Given the description of an element on the screen output the (x, y) to click on. 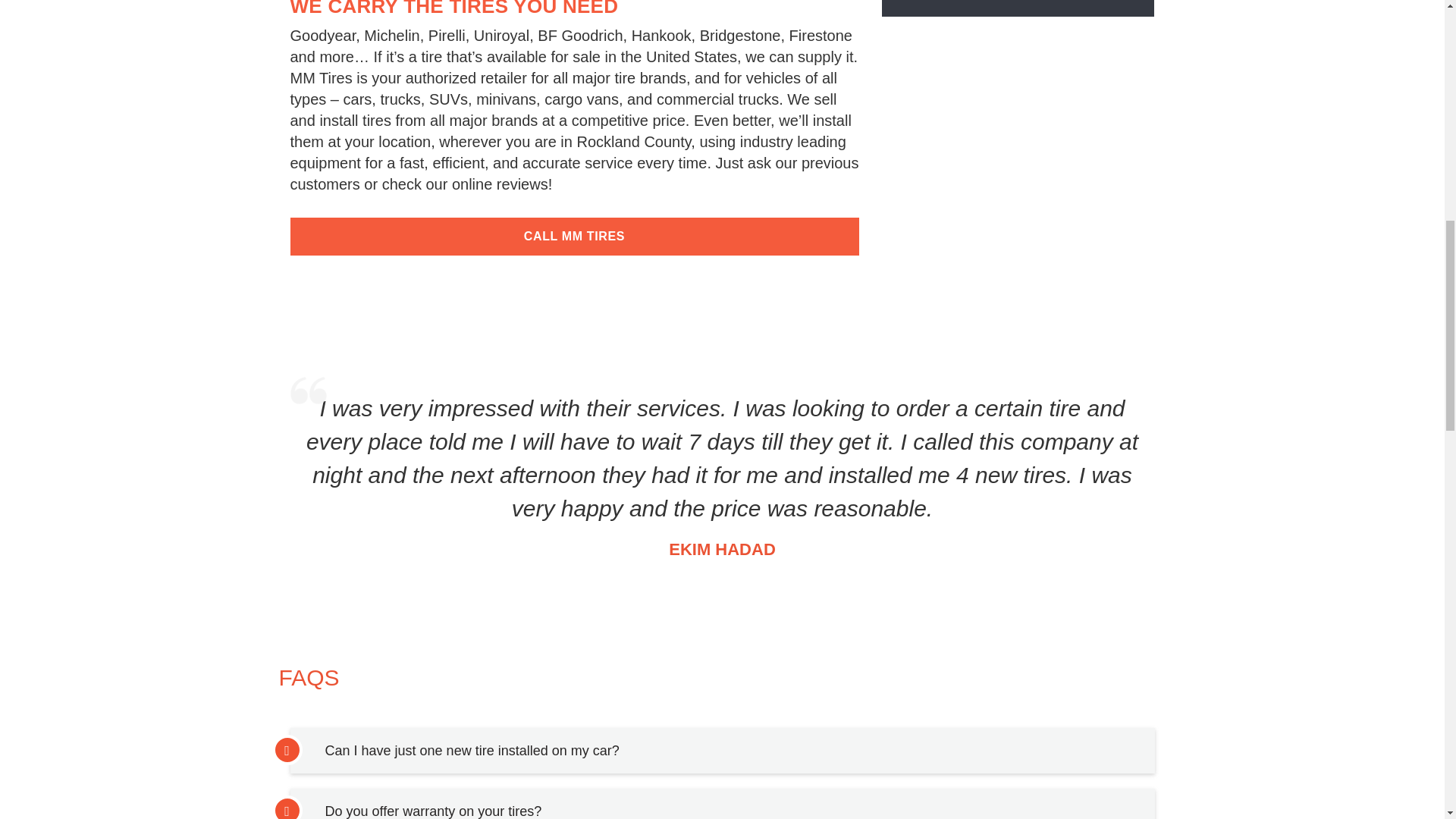
Do you offer warranty on your tires? (432, 811)
Can I have just one new tire installed on my car? (472, 750)
CALL MM TIRES (574, 236)
